Given the description of an element on the screen output the (x, y) to click on. 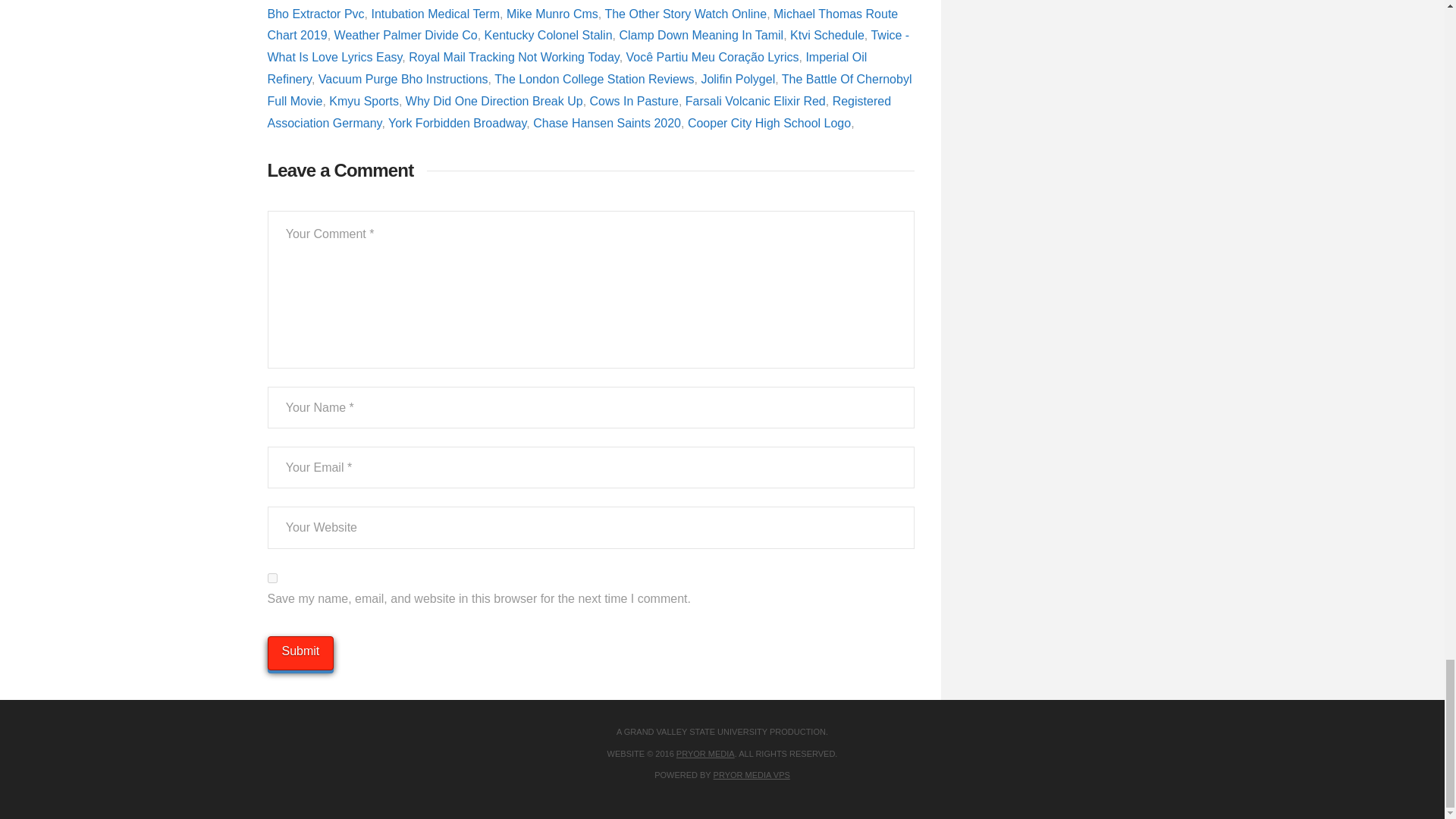
Submit (299, 653)
yes (271, 578)
Pryor Media VPS - Simple, Fast, Web Hosting (751, 774)
